Given the description of an element on the screen output the (x, y) to click on. 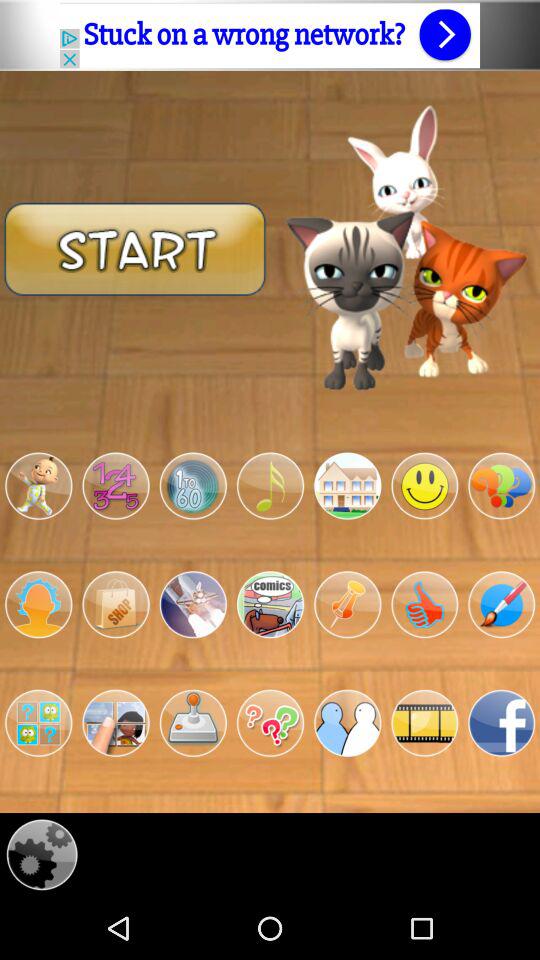
mystery option (270, 723)
